Given the description of an element on the screen output the (x, y) to click on. 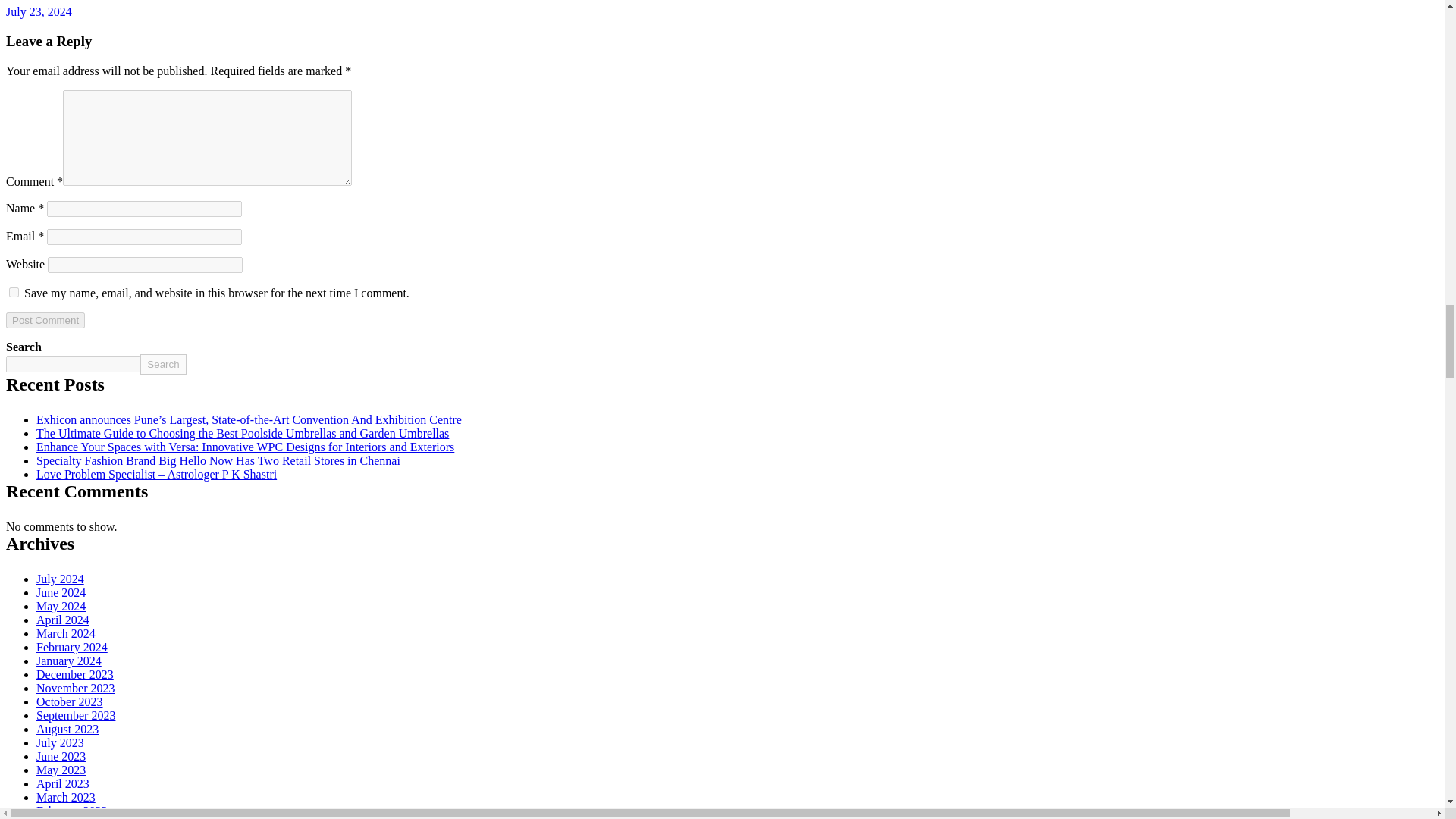
yes (13, 292)
Post Comment (44, 320)
